Given the description of an element on the screen output the (x, y) to click on. 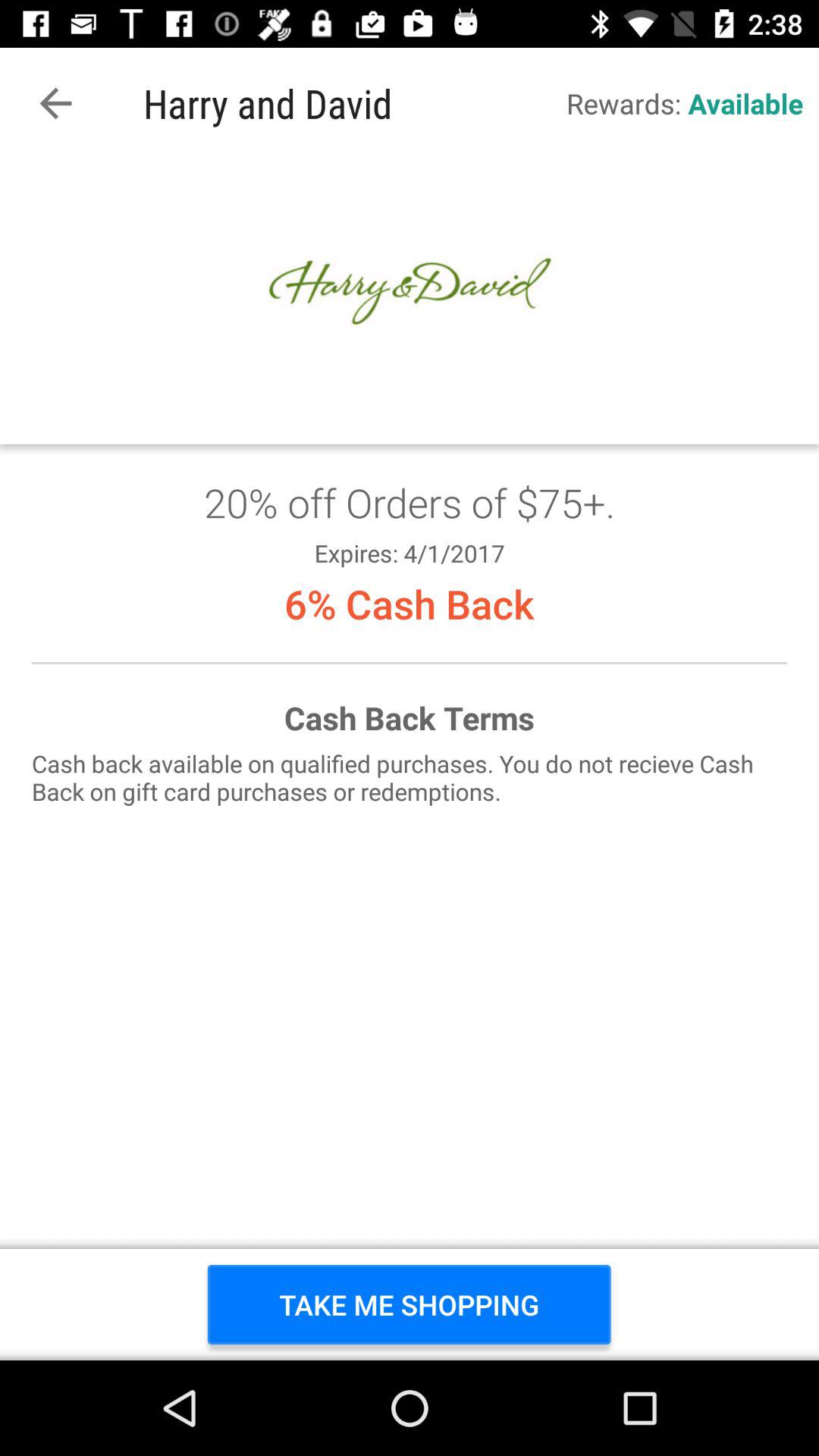
press the app next to the harry and david icon (55, 103)
